Given the description of an element on the screen output the (x, y) to click on. 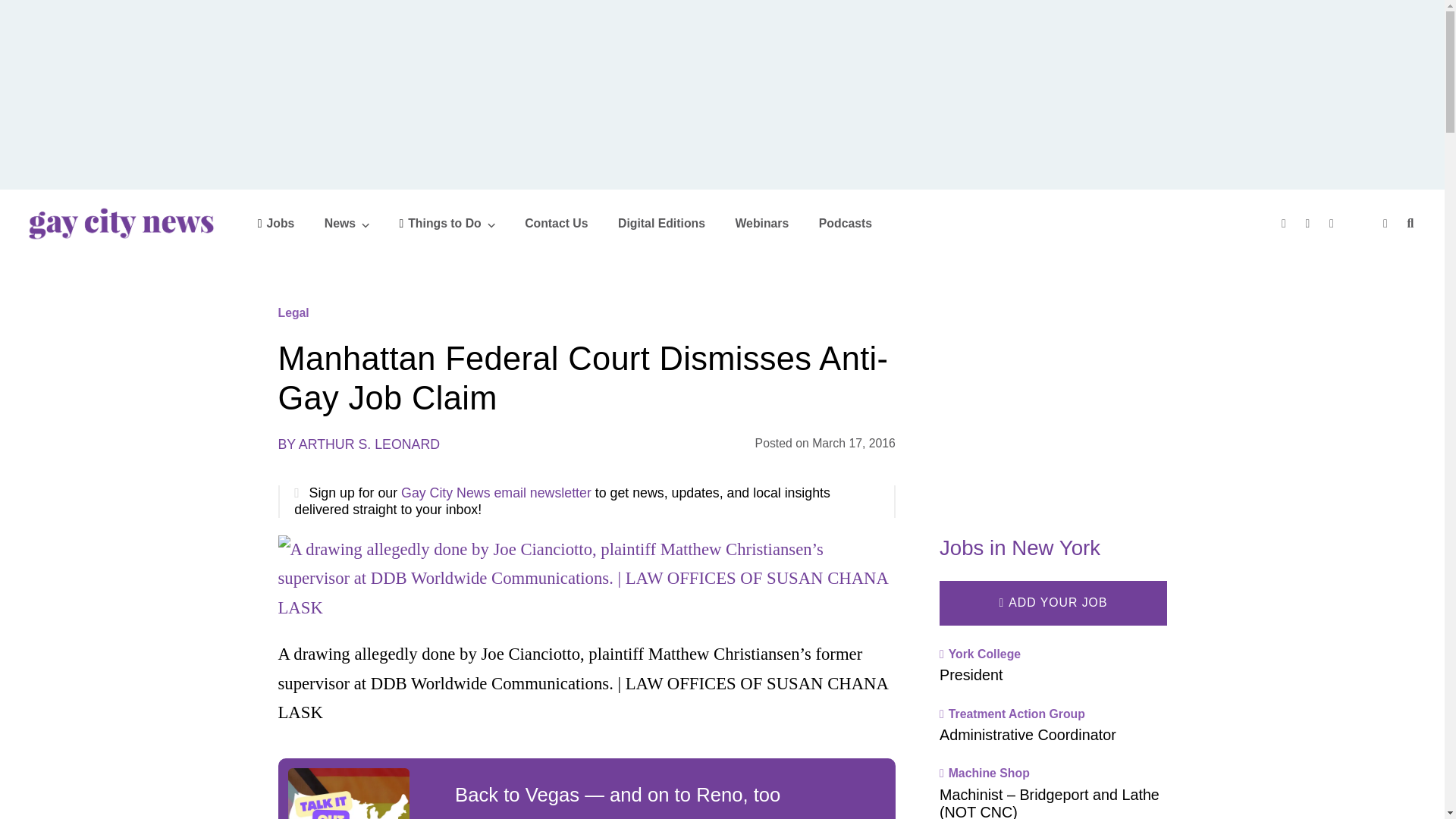
Things to Do (446, 223)
Contact Us (556, 223)
Jobs (276, 223)
Podcasts (845, 223)
Digital Editions (660, 223)
News (346, 223)
Webinars (762, 223)
